Given the description of an element on the screen output the (x, y) to click on. 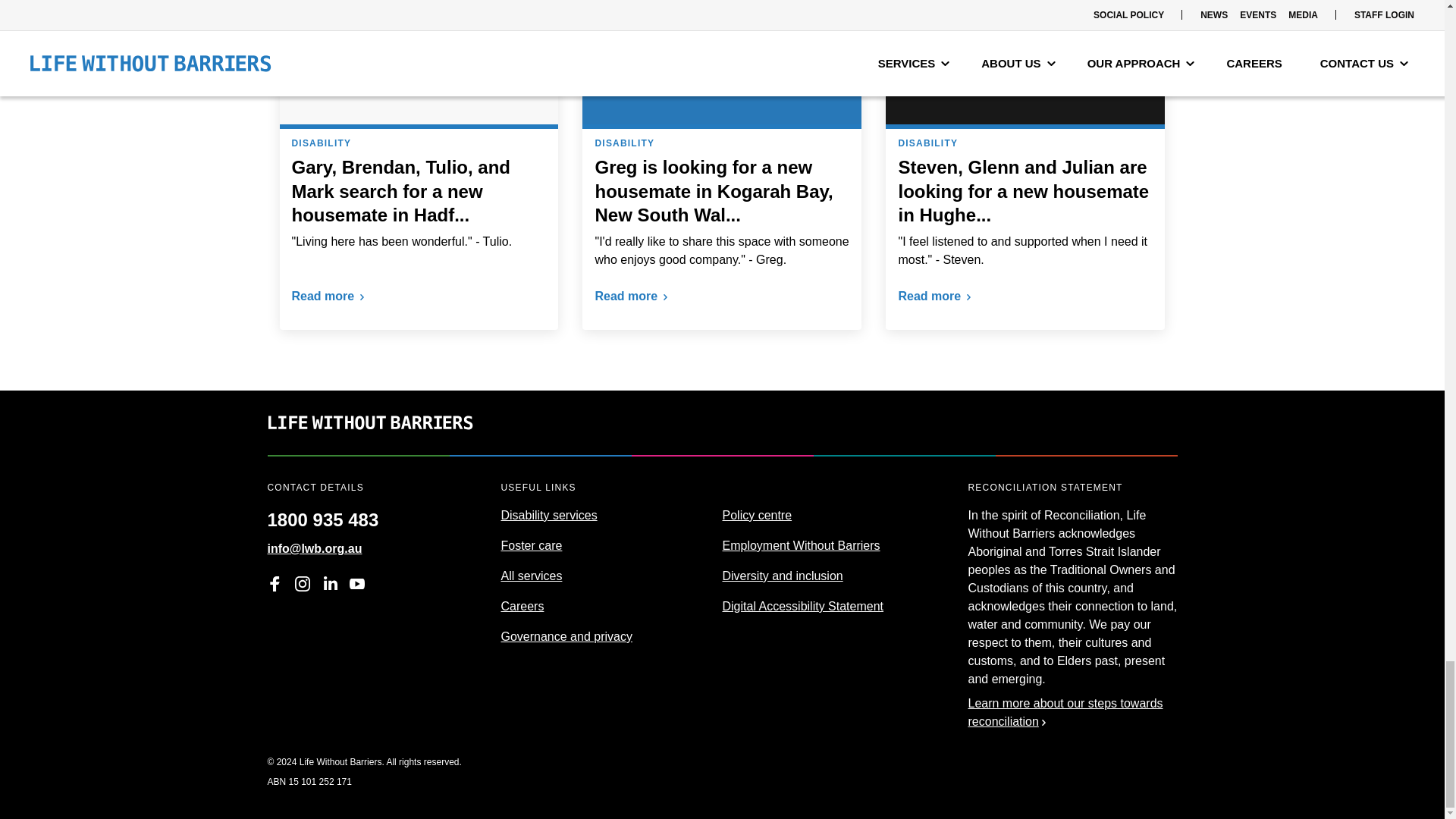
Life Without Barriers home page (368, 445)
